Given the description of an element on the screen output the (x, y) to click on. 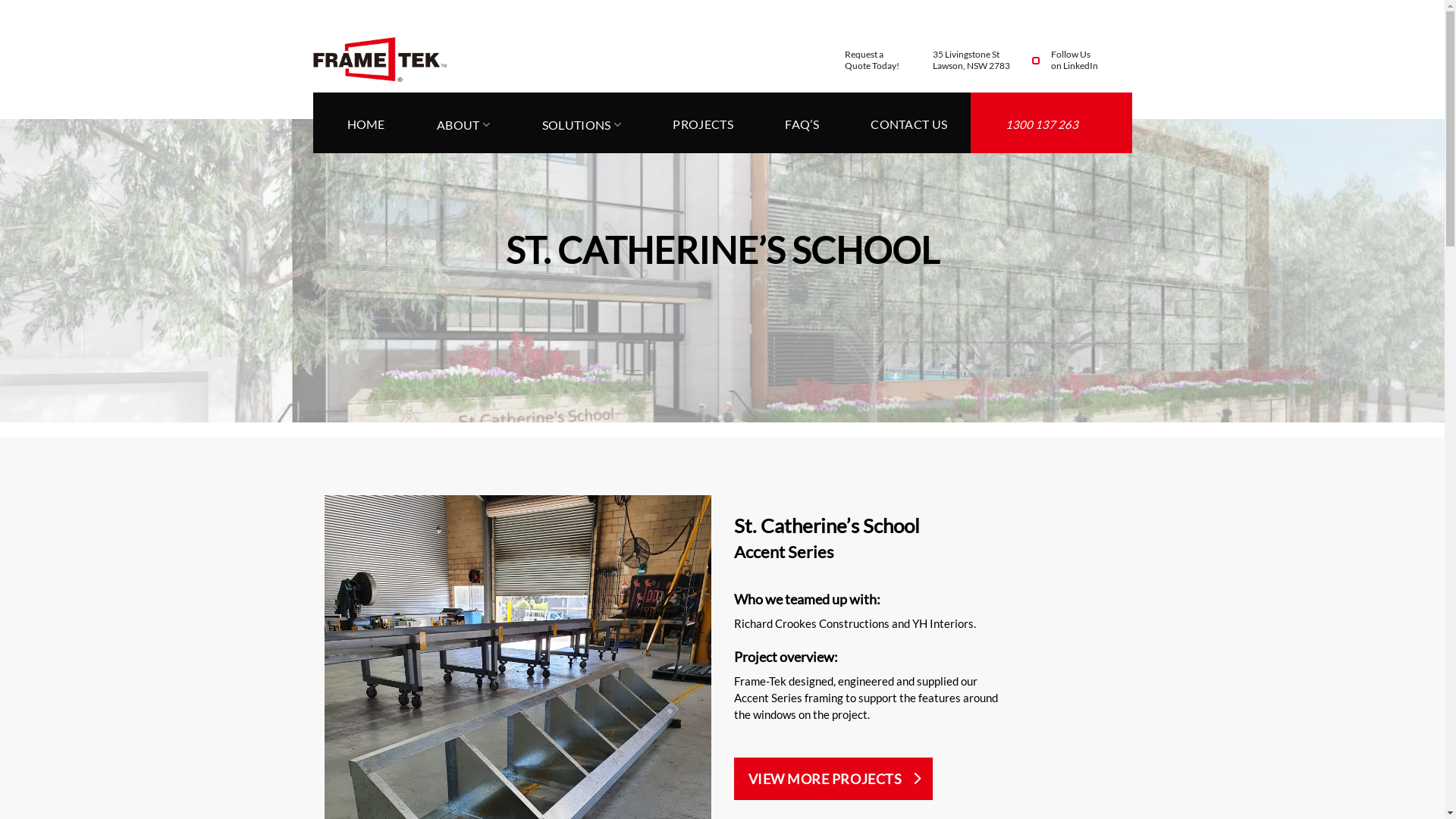
Request a
Quote Today! Element type: text (870, 66)
PROJECTS Element type: text (702, 122)
CONTACT US Element type: text (908, 122)
SOLUTIONS Element type: text (581, 122)
ABOUT Element type: text (462, 122)
Follow Us
on LinkedIn Element type: text (1069, 66)
VIEW MORE PROJECTS Element type: text (833, 778)
Accent Series Element type: text (784, 551)
1300 137 263 Element type: text (1039, 125)
HOME Element type: text (366, 122)
35 Livingstone St
Lawson, NSW 2783 Element type: text (970, 66)
